Given the description of an element on the screen output the (x, y) to click on. 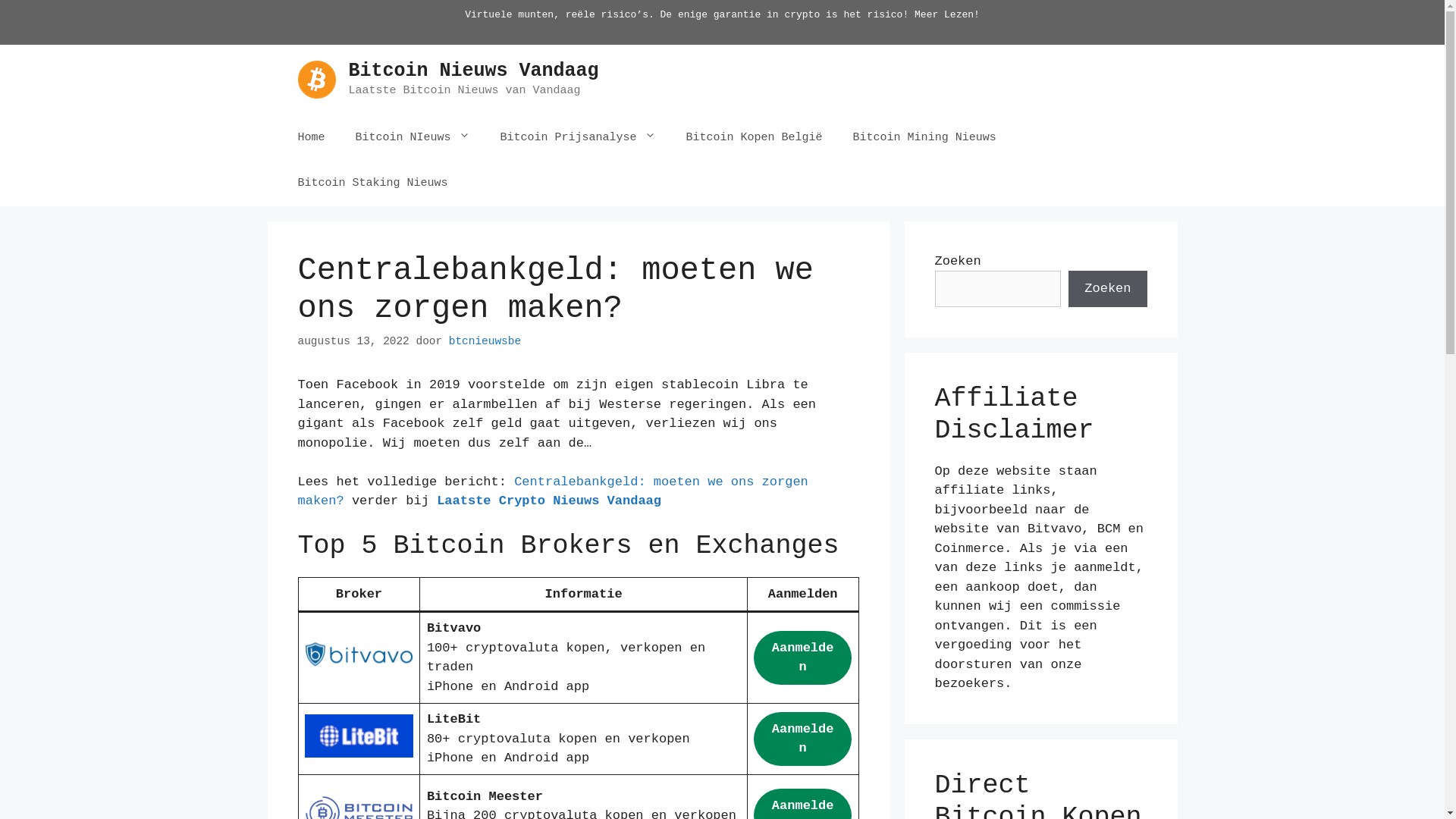
Home Element type: text (310, 137)
Meer Lezen! Element type: text (946, 14)
Bitcoin NIeuws Element type: text (412, 137)
Zoeken Element type: text (1107, 288)
Aanmelden Element type: text (802, 657)
Aanmelden Element type: text (802, 738)
Bitcoin Staking Nieuws Element type: text (372, 183)
btcnieuwsbe Element type: text (484, 341)
Bitcoin Prijsanalyse Element type: text (578, 137)
Laatste Crypto Nieuws Vandaag Element type: text (548, 500)
Centralebankgeld: moeten we ons zorgen maken? Element type: text (552, 491)
Bitcoin Mining Nieuws Element type: text (924, 137)
Bitcoin Nieuws Vandaag Element type: text (473, 70)
